Given the description of an element on the screen output the (x, y) to click on. 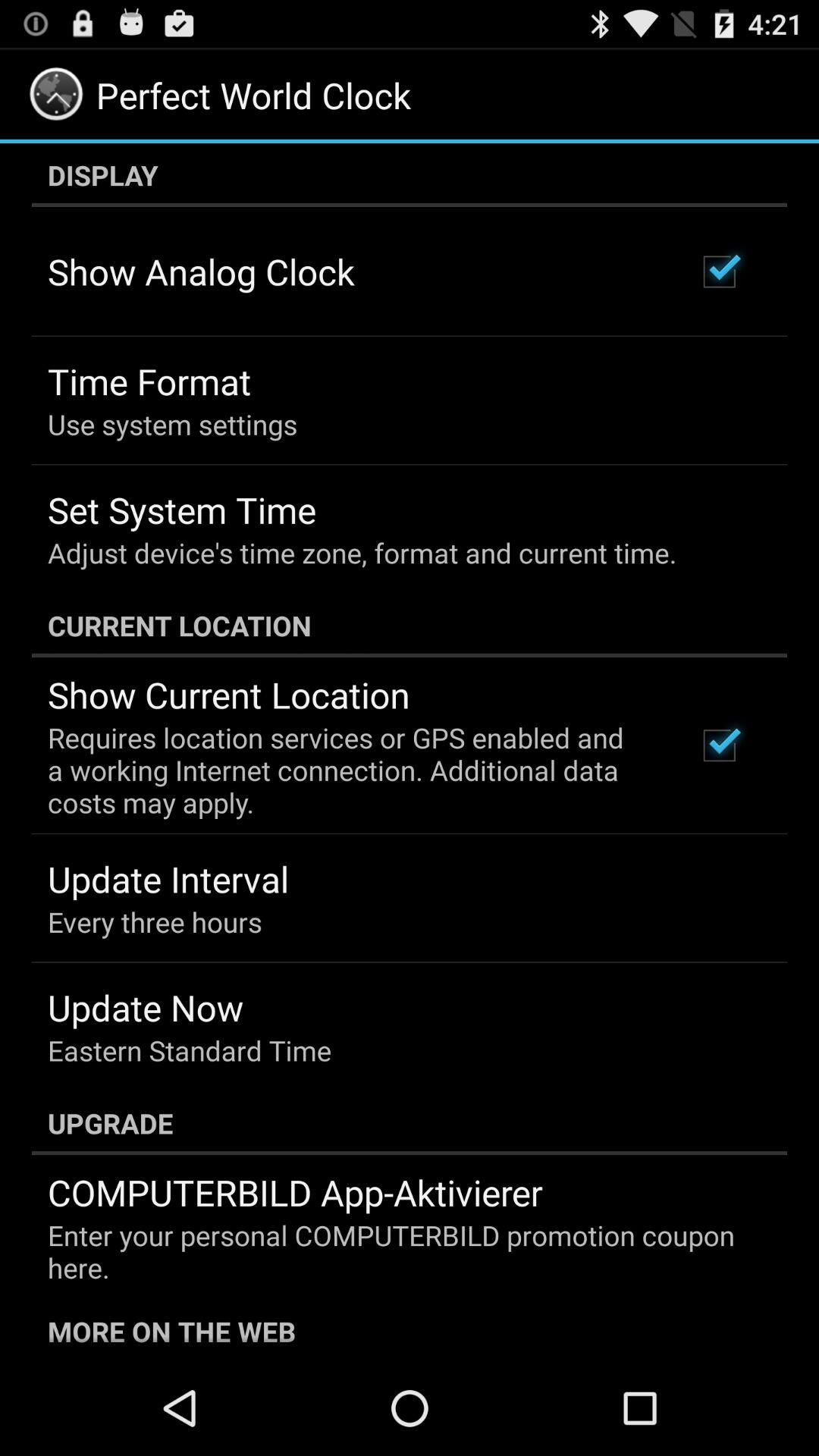
choose the use system settings item (172, 424)
